Given the description of an element on the screen output the (x, y) to click on. 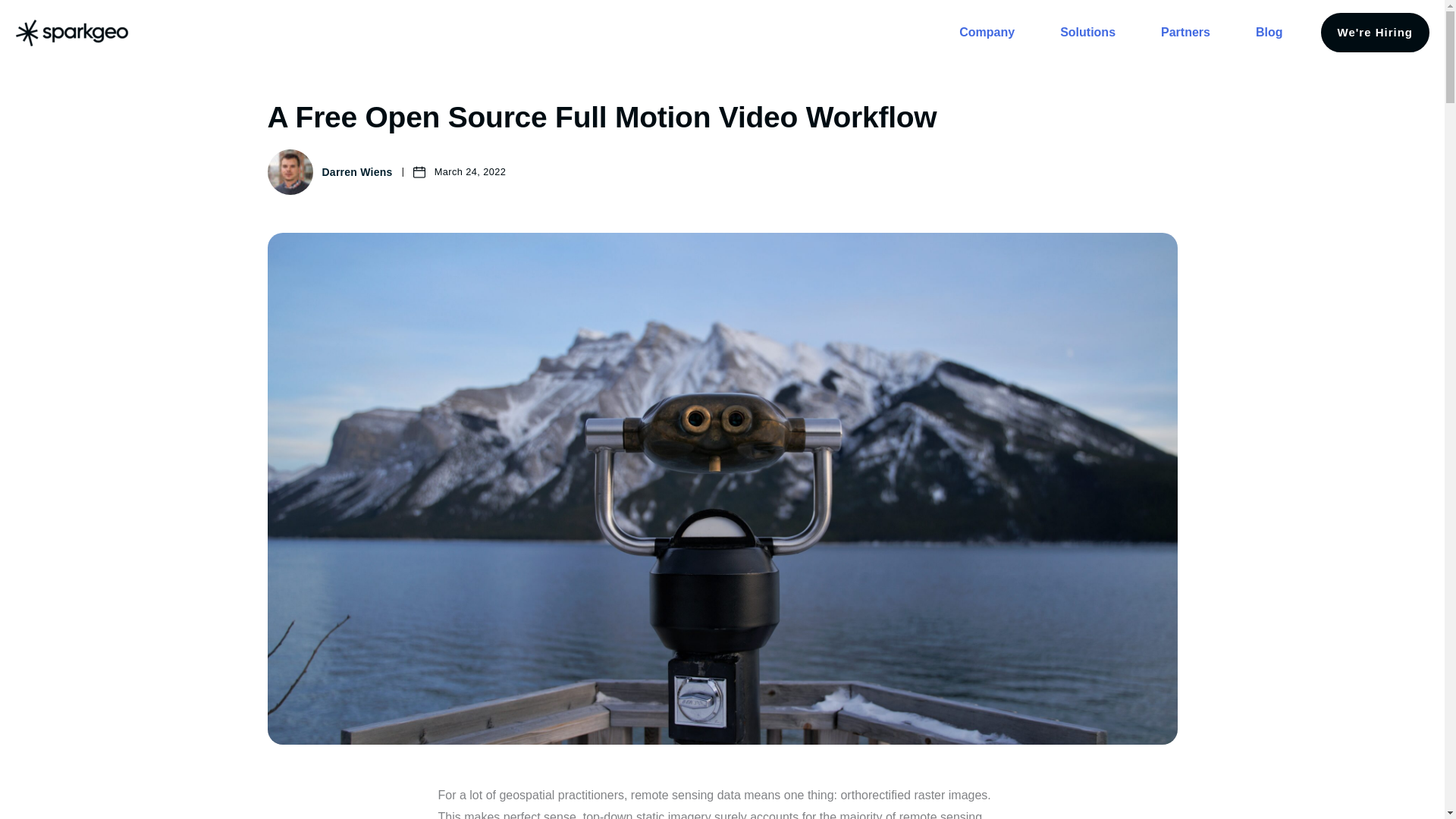
Company (986, 32)
Blog (1269, 32)
We'Re Hiring (1374, 32)
Darren Wiens (356, 171)
Solutions (1087, 32)
Partners (1185, 32)
